Given the description of an element on the screen output the (x, y) to click on. 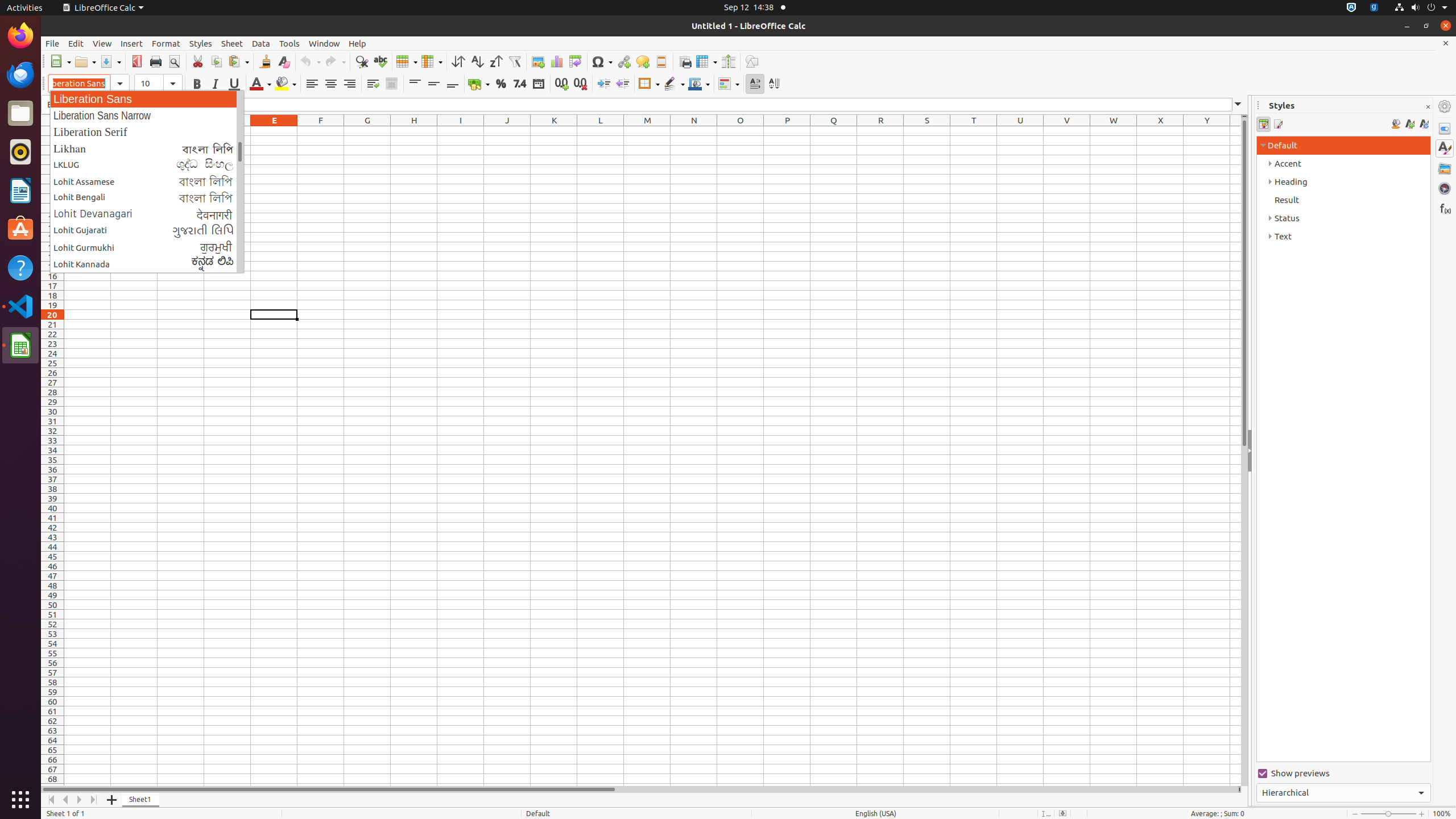
Add Decimal Place Element type: push-button (561, 83)
Undo Element type: push-button (309, 61)
Pivot Table Element type: push-button (574, 61)
Navigator Element type: radio-button (1444, 188)
Format Element type: menu (165, 43)
